Given the description of an element on the screen output the (x, y) to click on. 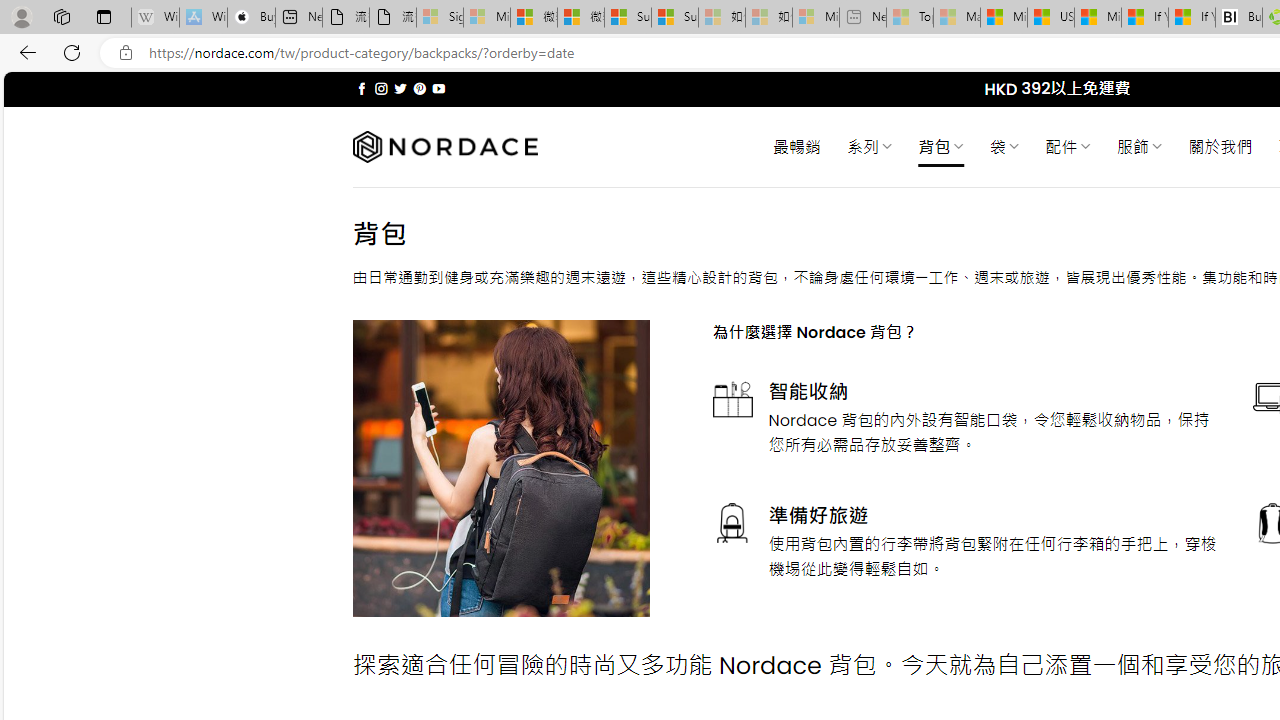
Follow on YouTube (438, 88)
Follow on Facebook (361, 88)
Follow on Pinterest (419, 88)
